Given the description of an element on the screen output the (x, y) to click on. 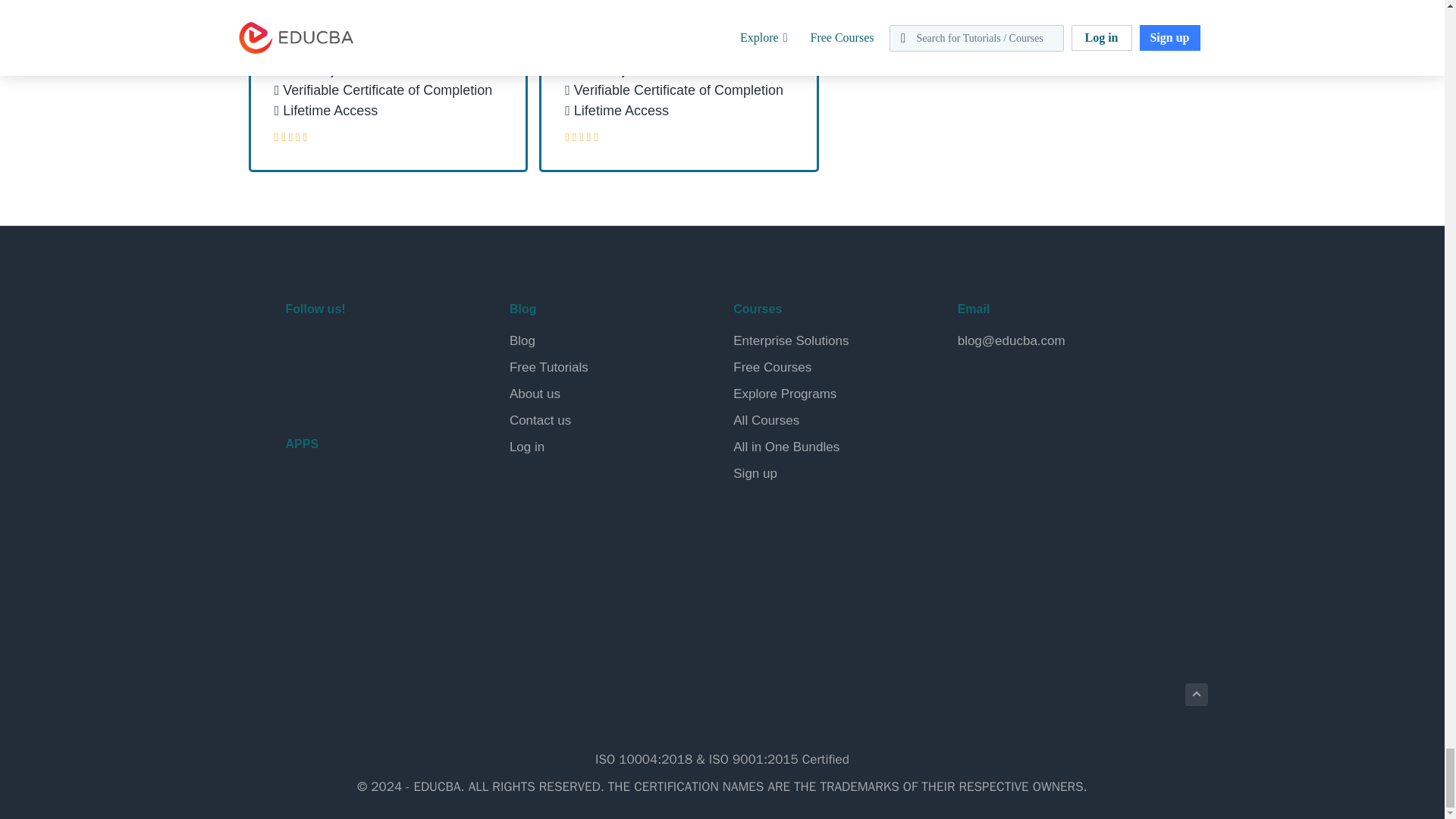
EDUCBA Android App (360, 498)
EDUCBA Instagram (408, 349)
EDUCBA Twitter (336, 349)
EDUCBA LinkedIN (371, 349)
EDUCBA Coursera (336, 387)
EDUCBA Facebook (300, 349)
EDUCBA Youtube (300, 387)
EDUCBA Udemy (371, 387)
EDUCBA iOS App (360, 562)
